Given the description of an element on the screen output the (x, y) to click on. 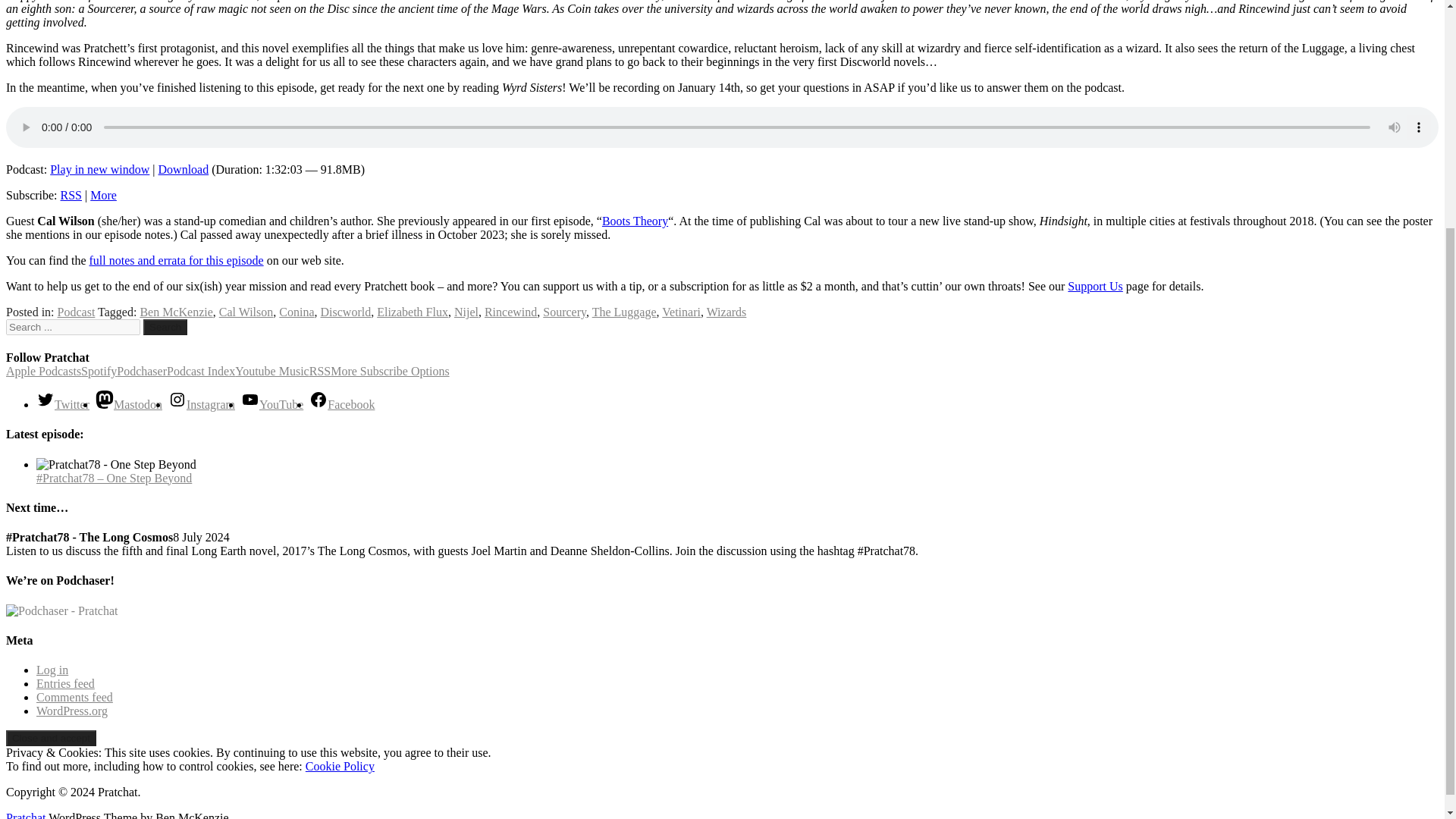
Ben McKenzie (175, 311)
Wizards (726, 311)
Nijel (466, 311)
Boots Theory (635, 220)
More Subscribe Options (389, 370)
Elizabeth Flux (412, 311)
Sourcery (564, 311)
Rincewind (510, 311)
Cal Wilson (246, 311)
RSS (71, 195)
Search for: (72, 326)
Subscribe on Spotify (98, 370)
The Luggage (624, 311)
Subscribe via RSS (319, 370)
Subscribe via RSS (71, 195)
